Given the description of an element on the screen output the (x, y) to click on. 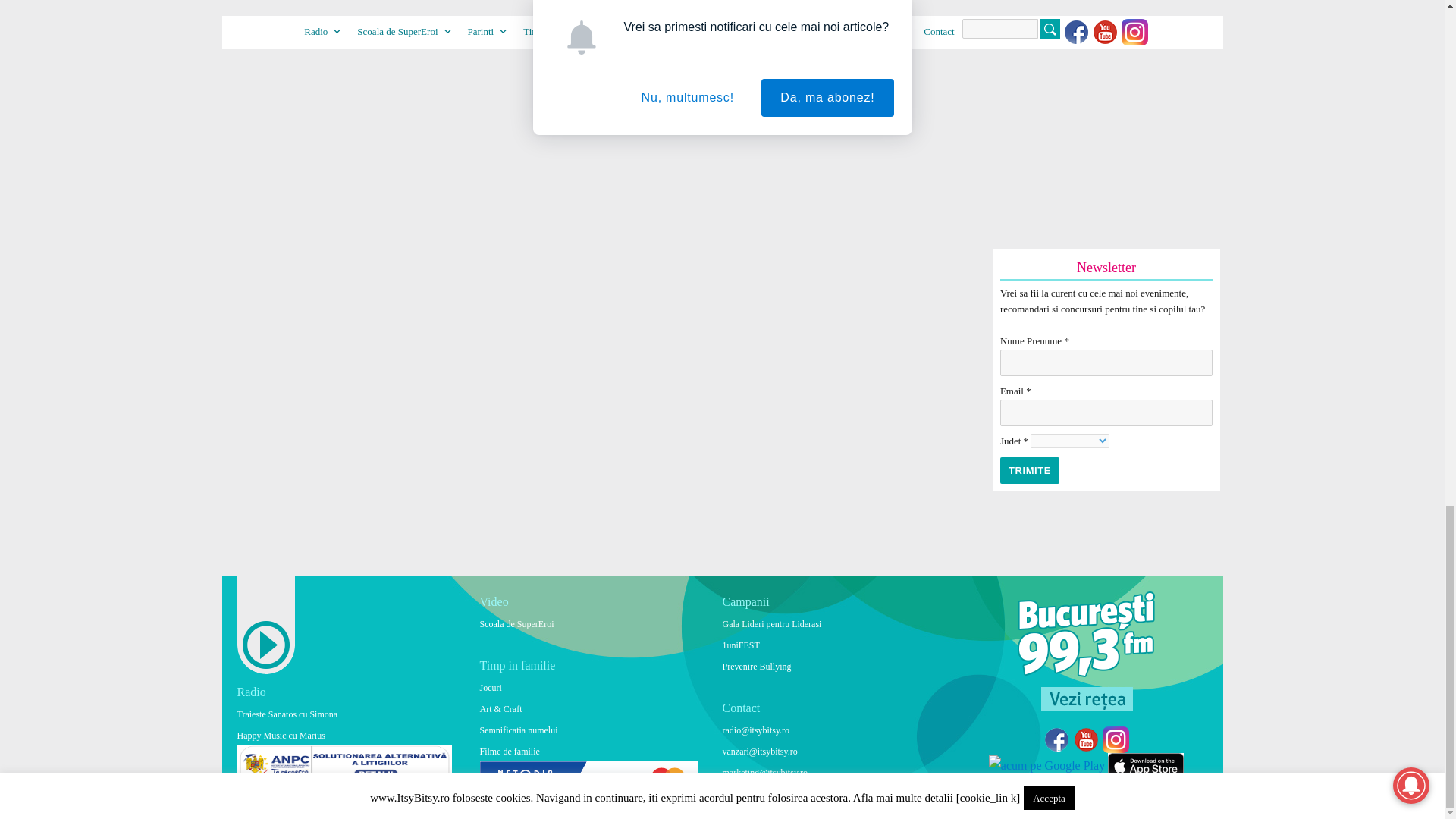
TRIMITE (1029, 470)
